Given the description of an element on the screen output the (x, y) to click on. 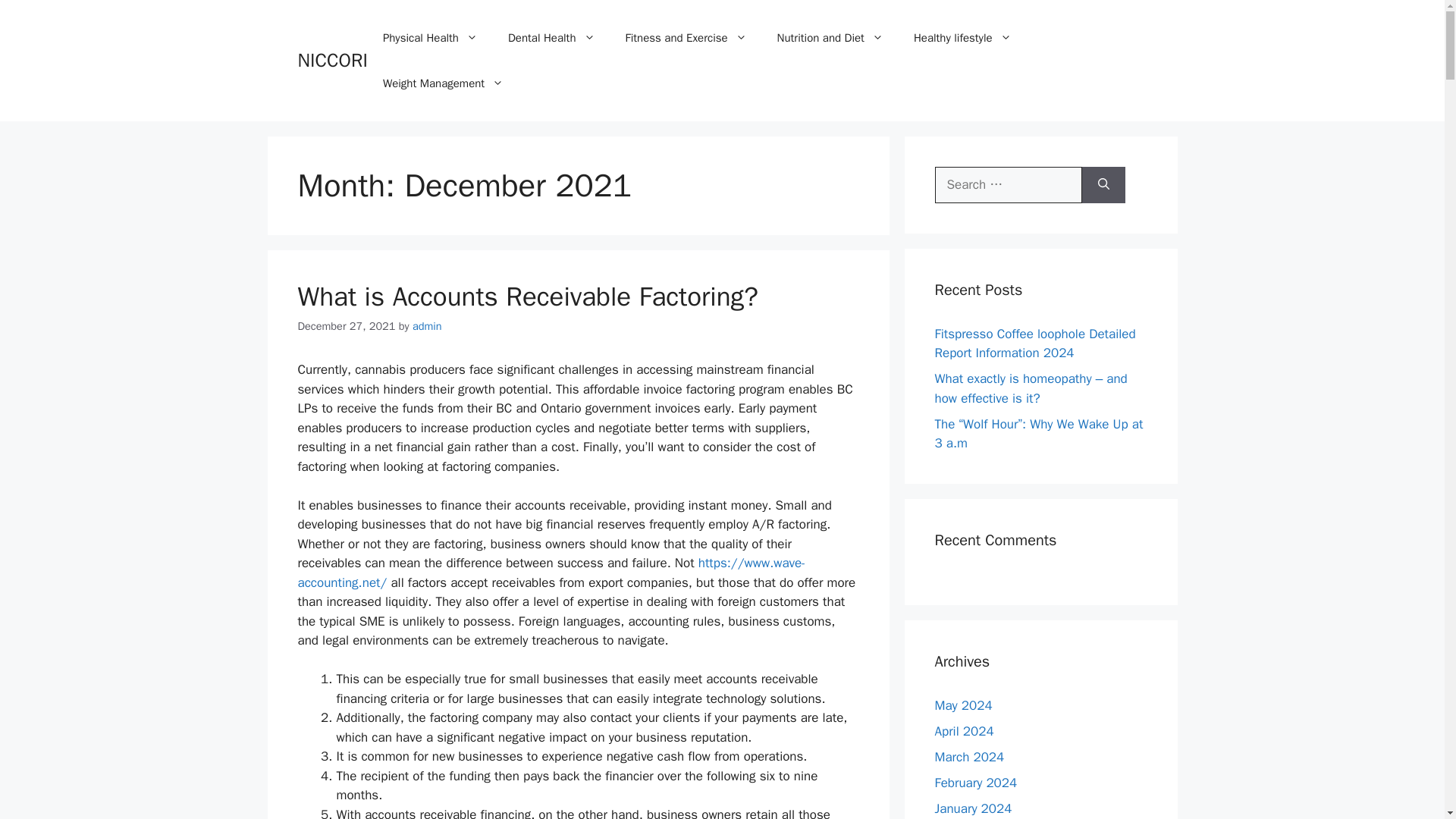
Dental Health (551, 37)
Search for: (1007, 185)
Healthy lifestyle (962, 37)
View all posts by admin (427, 325)
Nutrition and Diet (829, 37)
admin (427, 325)
Fitness and Exercise (685, 37)
Weight Management (443, 83)
Physical Health (430, 37)
What is Accounts Receivable Factoring? (527, 296)
NICCORI (331, 60)
